Given the description of an element on the screen output the (x, y) to click on. 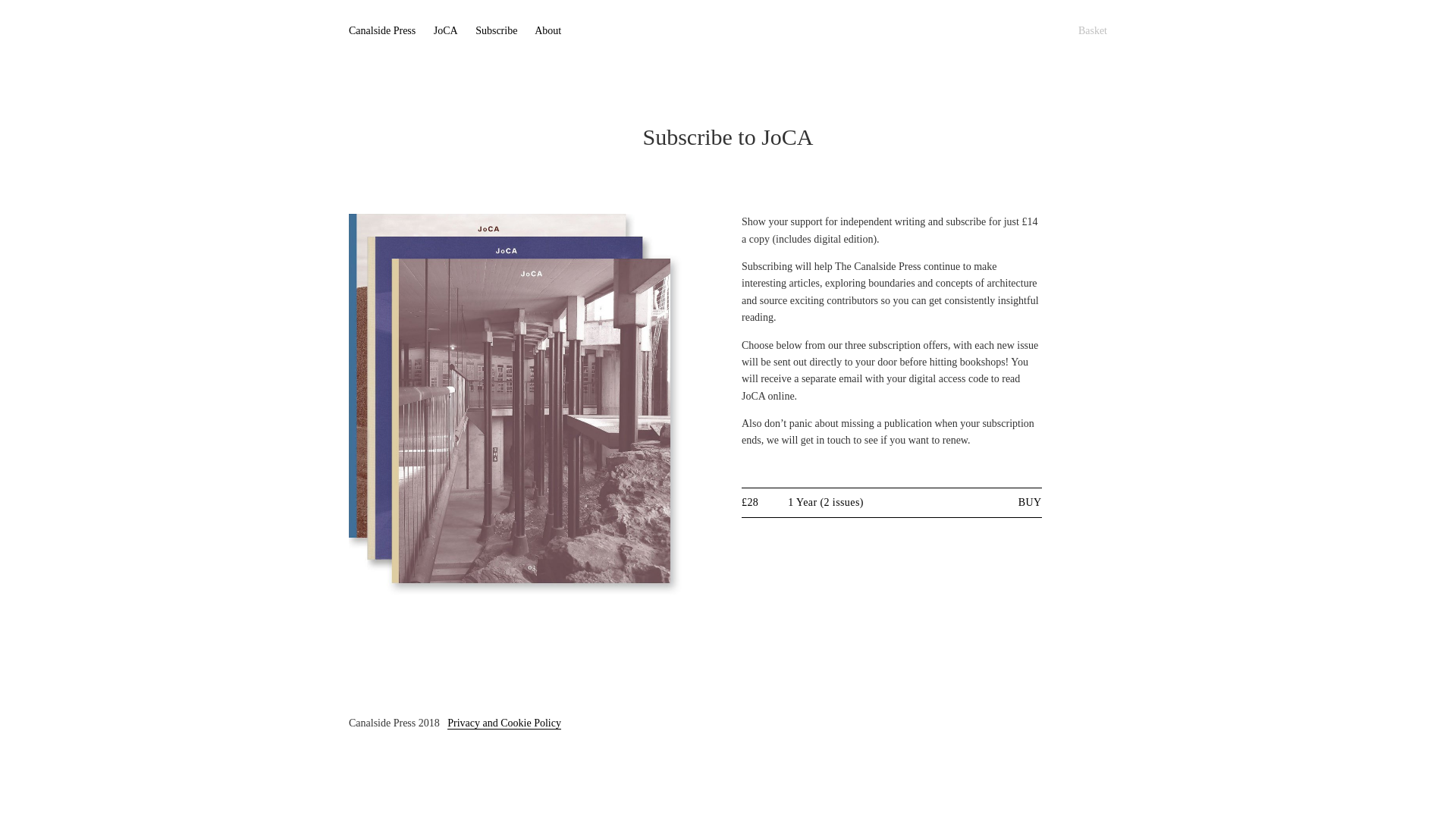
Canalside Press (381, 30)
About (547, 30)
JoCA (445, 30)
Privacy and Cookie Policy (503, 723)
Subscribe (496, 30)
